Given the description of an element on the screen output the (x, y) to click on. 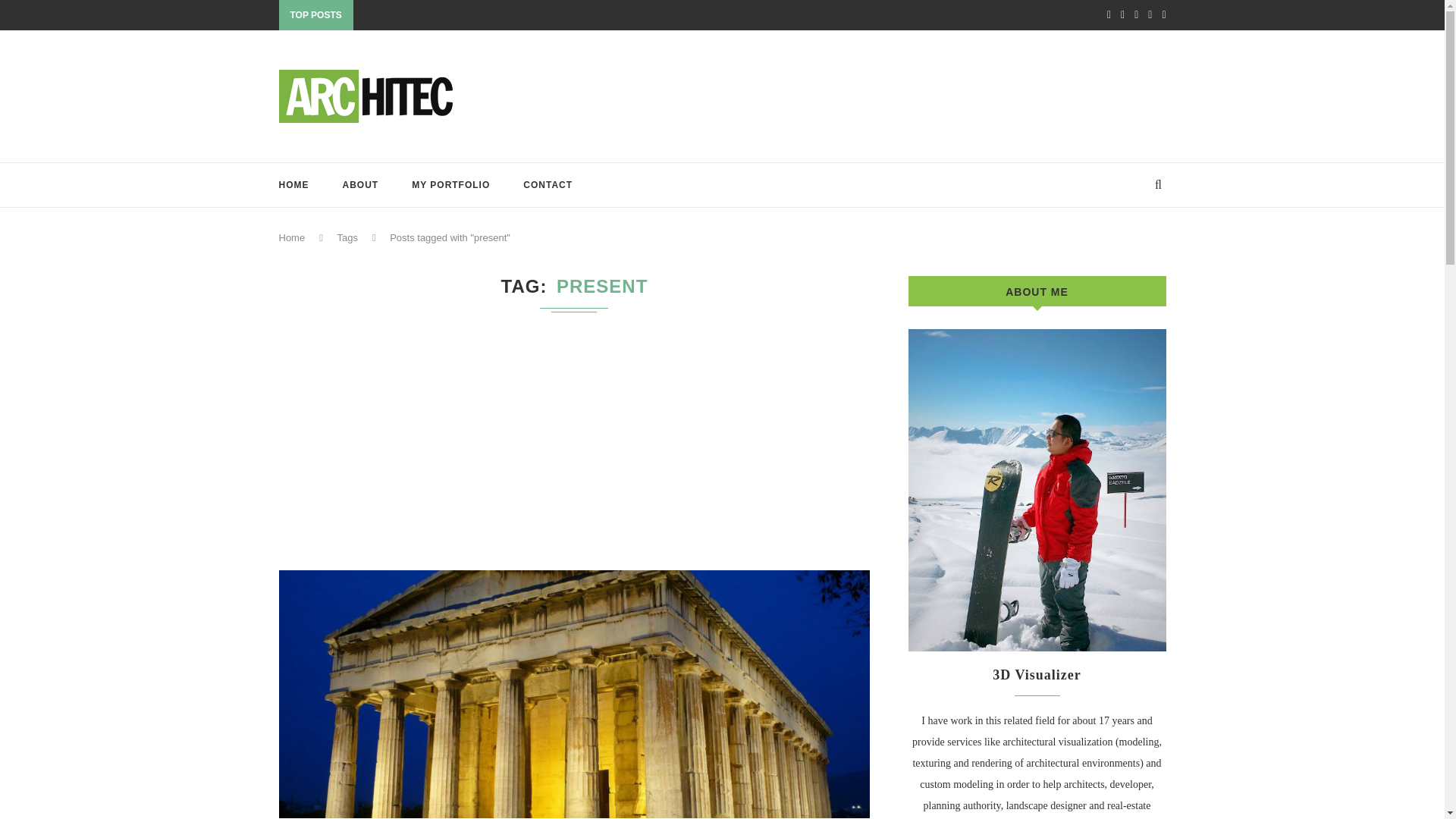
Advertisement (574, 440)
CONTACT (547, 184)
Home (292, 237)
MY PORTFOLIO (450, 184)
ABOUT (360, 184)
HOME (293, 184)
Advertisement (890, 94)
